Given the description of an element on the screen output the (x, y) to click on. 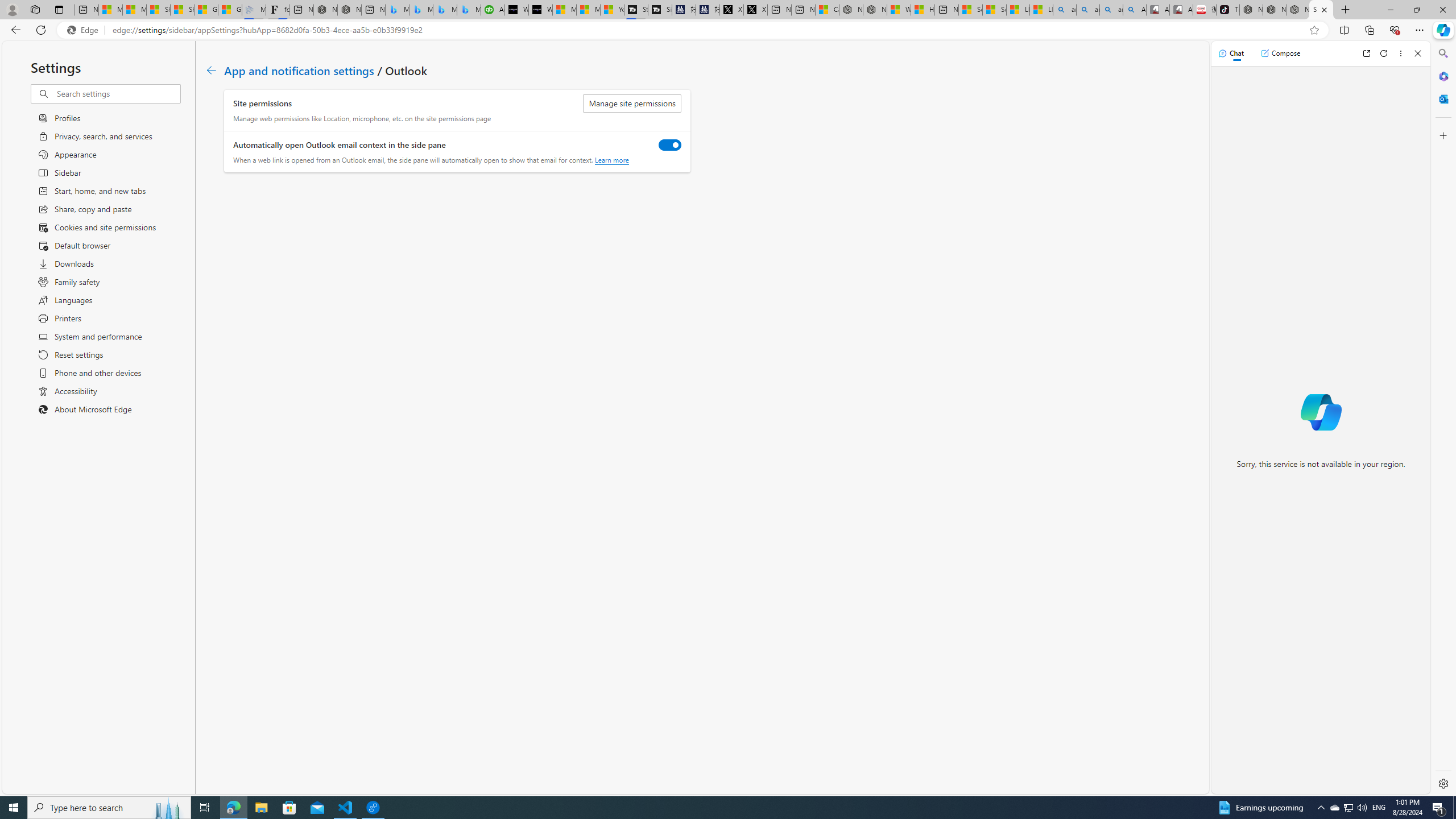
Chat (1231, 52)
Nordace - Siena Pro 15 Essential Set (1297, 9)
Class: c01188 (210, 70)
